Given the description of an element on the screen output the (x, y) to click on. 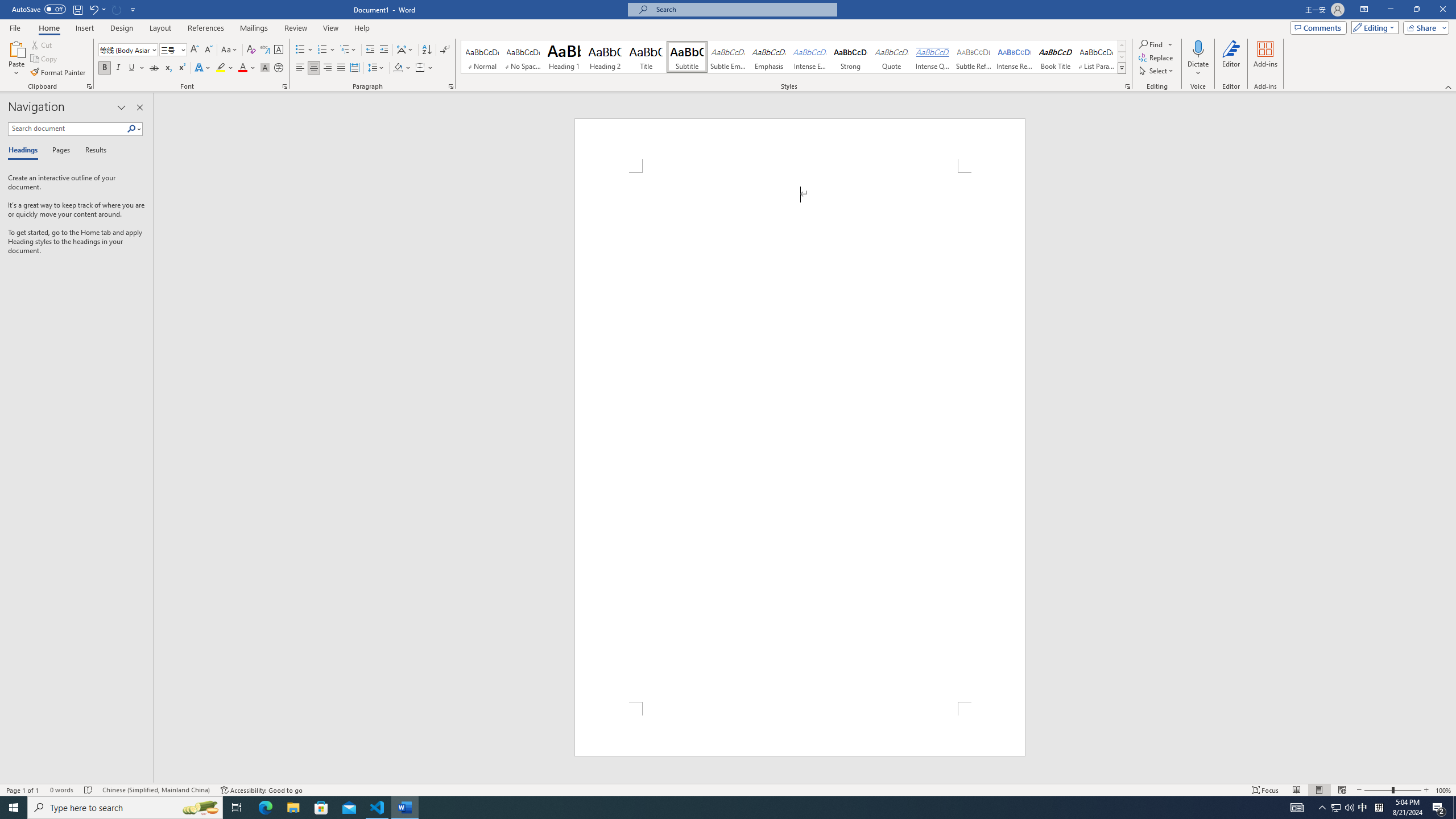
Can't Repeat (117, 9)
Zoom 100% (1443, 790)
